Given the description of an element on the screen output the (x, y) to click on. 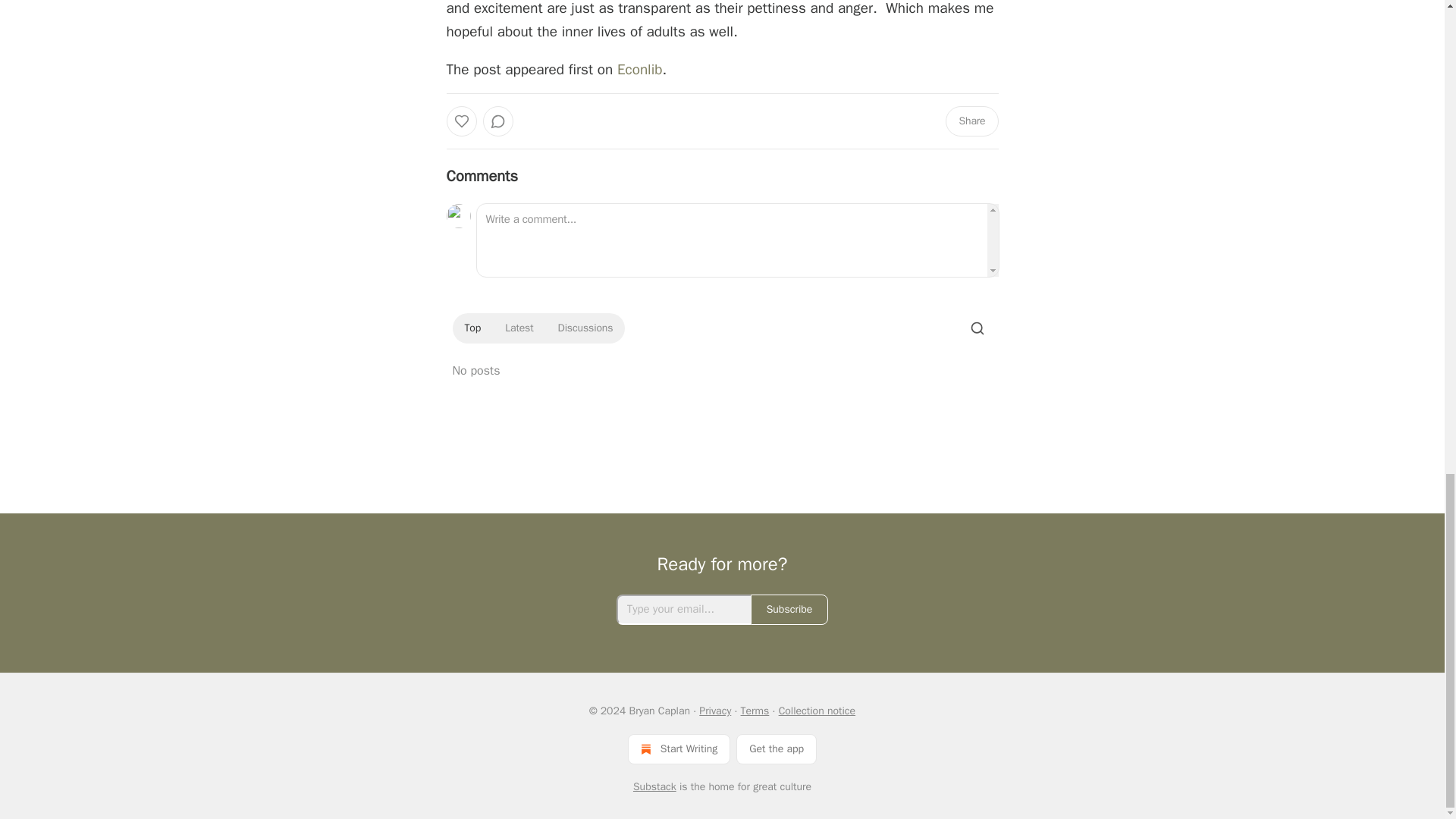
Econlib (639, 69)
Latest (518, 328)
Top (471, 328)
Discussions (585, 328)
Subscribe (789, 609)
Share (970, 121)
Privacy (714, 710)
